Given the description of an element on the screen output the (x, y) to click on. 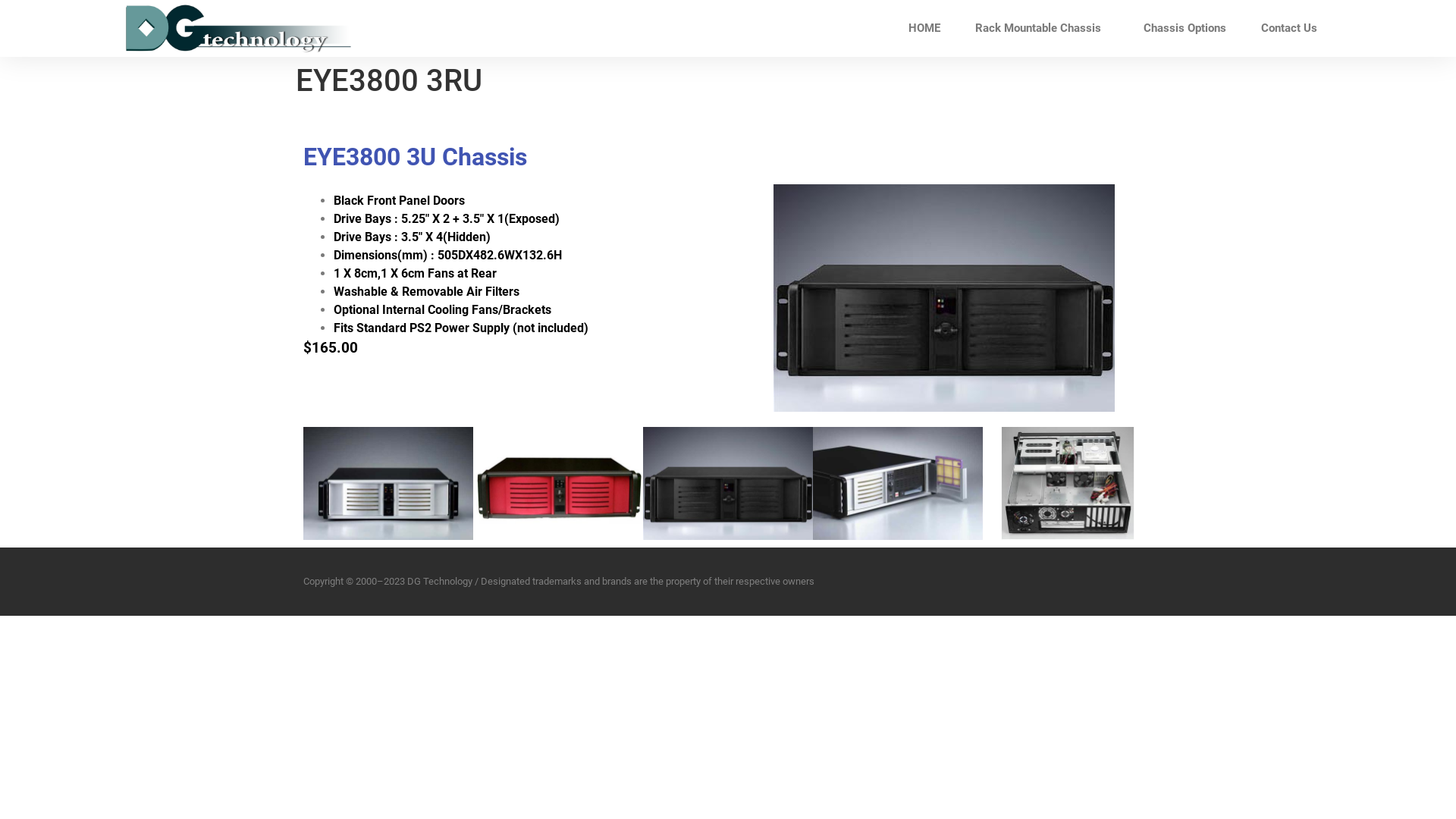
Rack Mountable Chassis Element type: text (1041, 27)
Chassis Options Element type: text (1184, 27)
Contact Us Element type: text (1288, 27)
HOME Element type: text (924, 27)
